Given the description of an element on the screen output the (x, y) to click on. 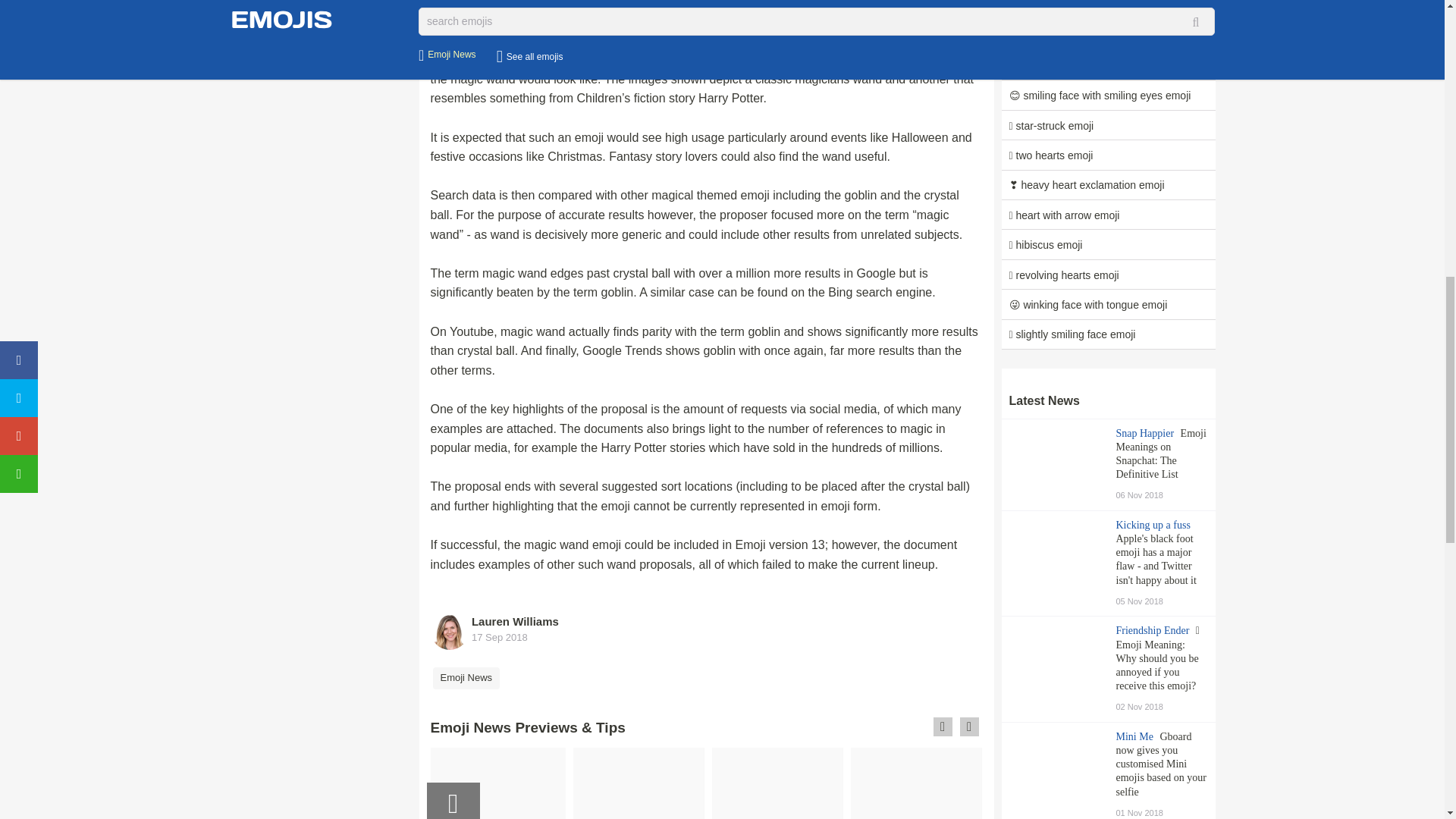
Lauren Williams (515, 621)
Emoji News (465, 677)
